Given the description of an element on the screen output the (x, y) to click on. 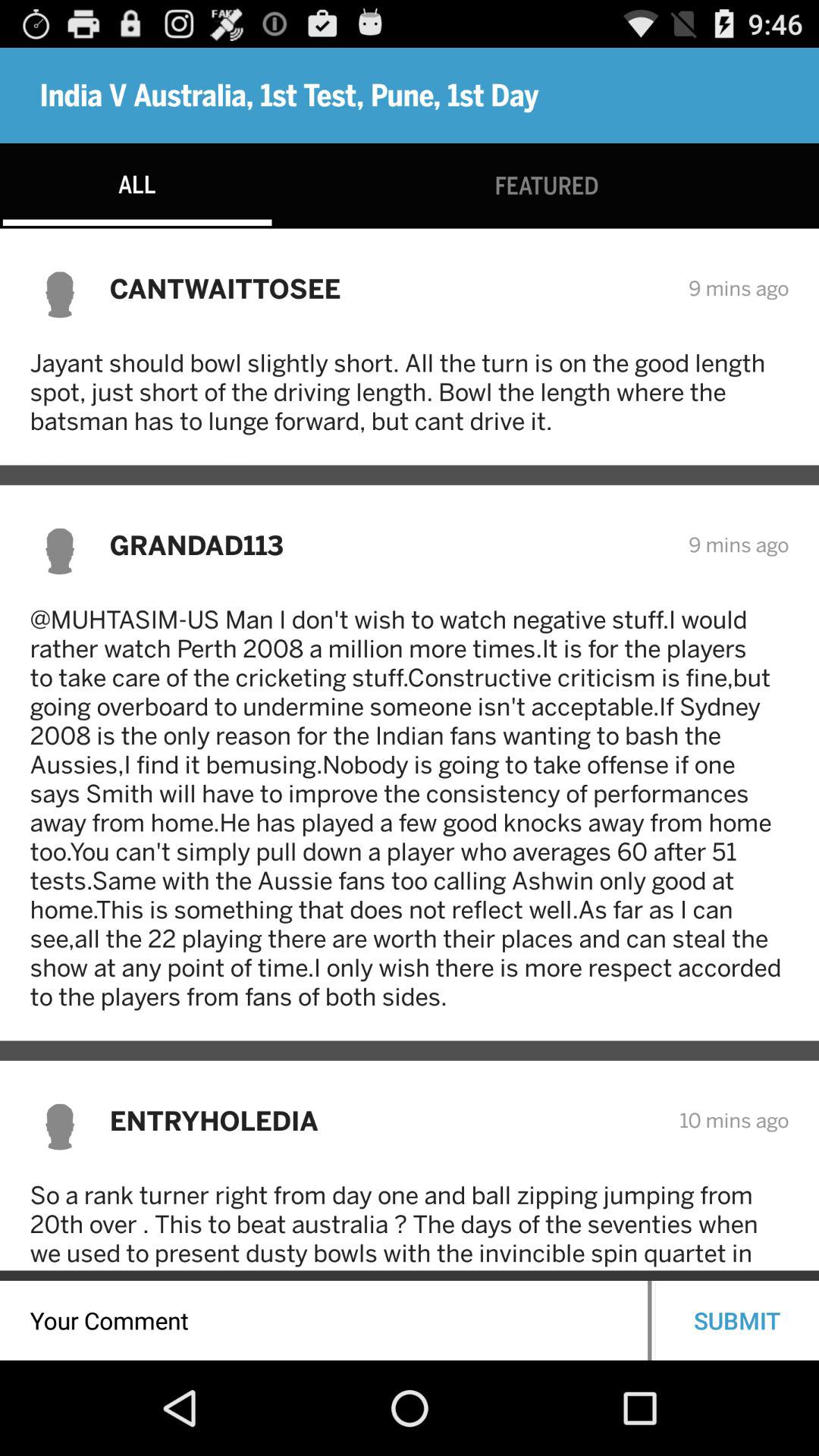
open the icon below india v australia item (546, 185)
